Given the description of an element on the screen output the (x, y) to click on. 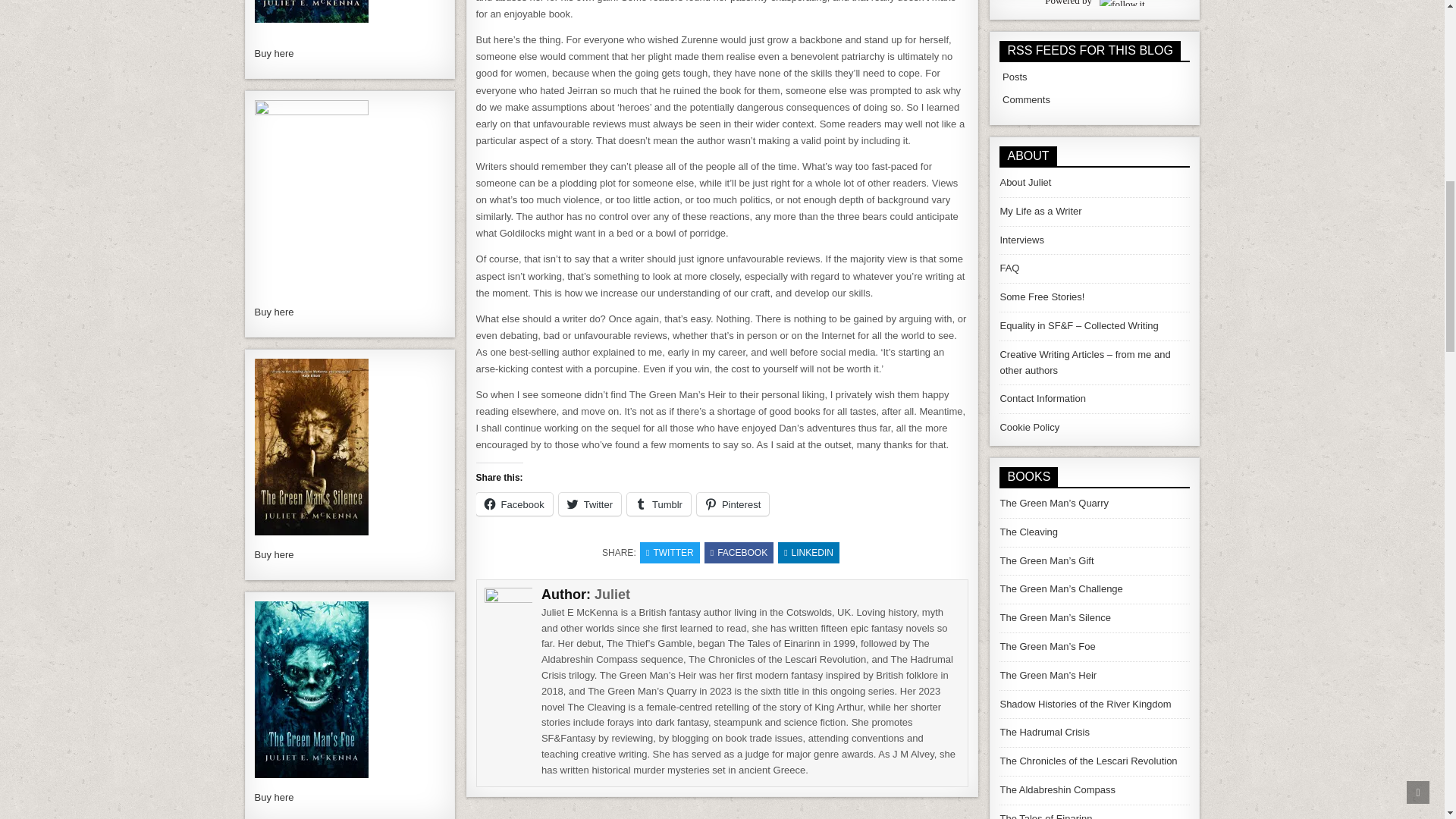
Click to share on Tumblr (658, 504)
Click to share on Pinterest (732, 504)
Click to share on Twitter (590, 504)
Share this on Linkedin (808, 552)
Share this on Facebook (738, 552)
Click to share on Facebook (514, 504)
Tweet This! (670, 552)
